Given the description of an element on the screen output the (x, y) to click on. 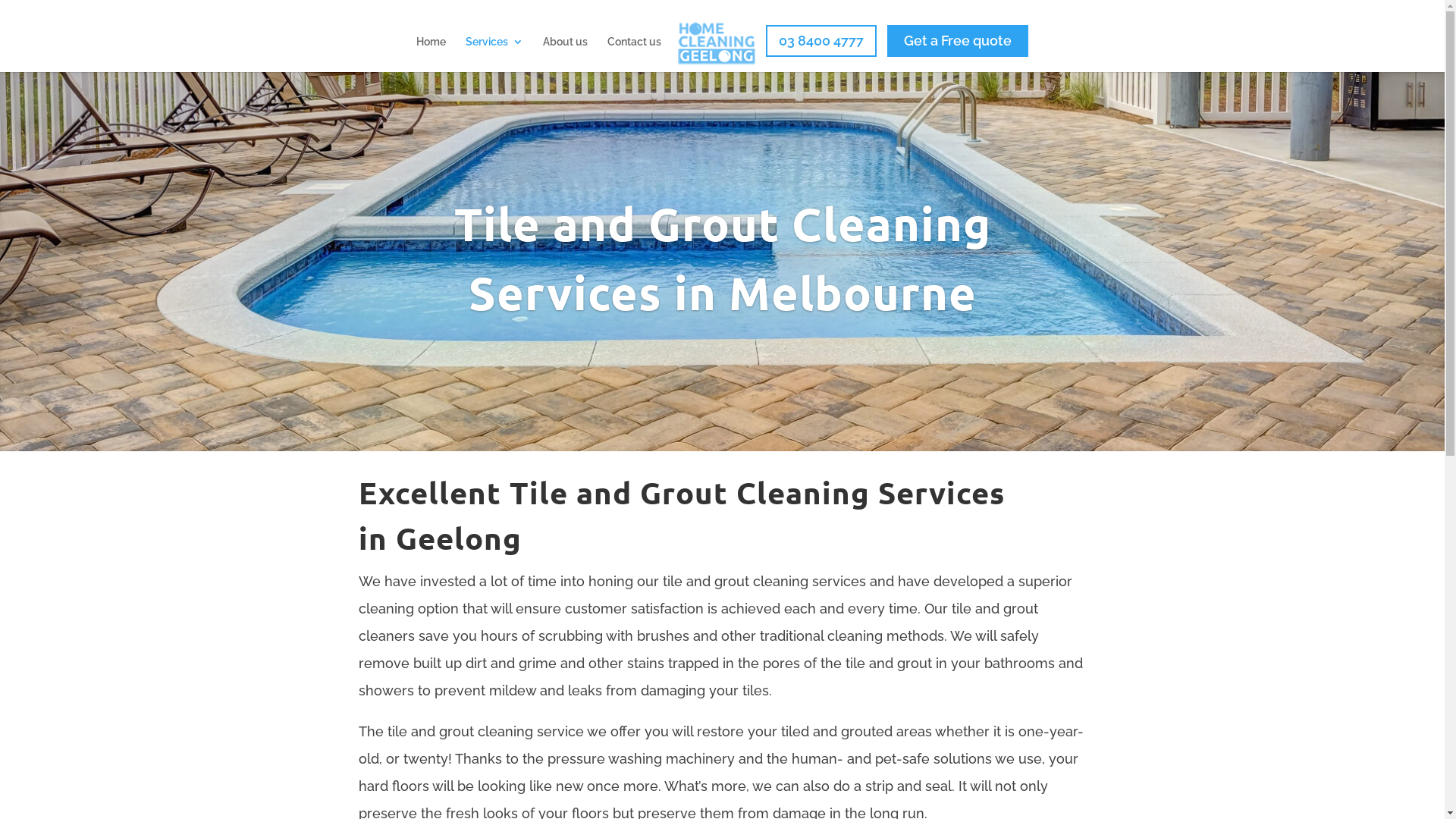
03 8400 4777 Element type: text (820, 40)
Contact us Element type: text (634, 54)
Services Element type: text (494, 54)
Get a Free quote Element type: text (957, 40)
About us Element type: text (564, 54)
Home Element type: text (430, 54)
